Given the description of an element on the screen output the (x, y) to click on. 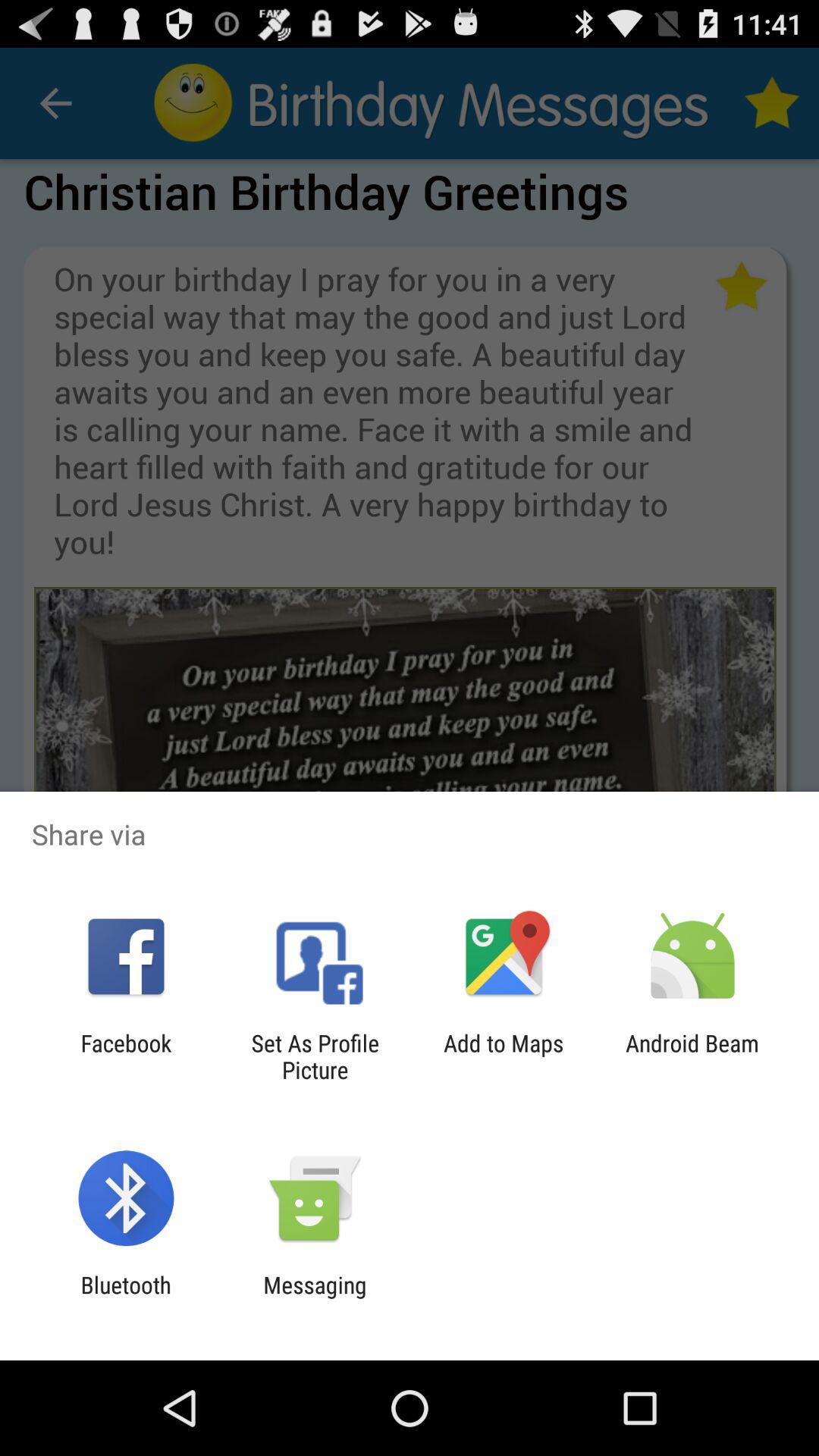
turn on the item to the left of the android beam (503, 1056)
